Given the description of an element on the screen output the (x, y) to click on. 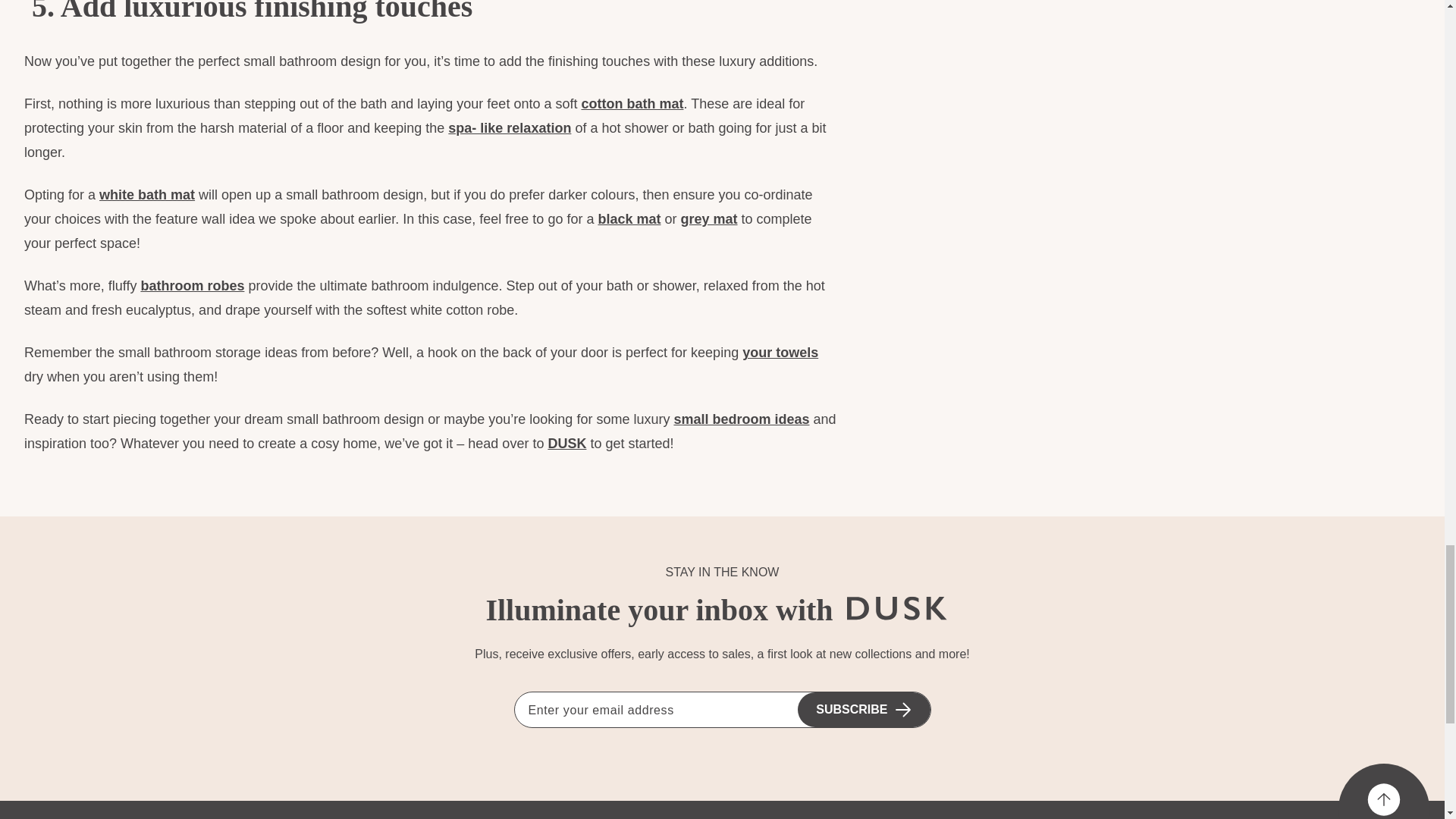
DUSK (900, 608)
